Given the description of an element on the screen output the (x, y) to click on. 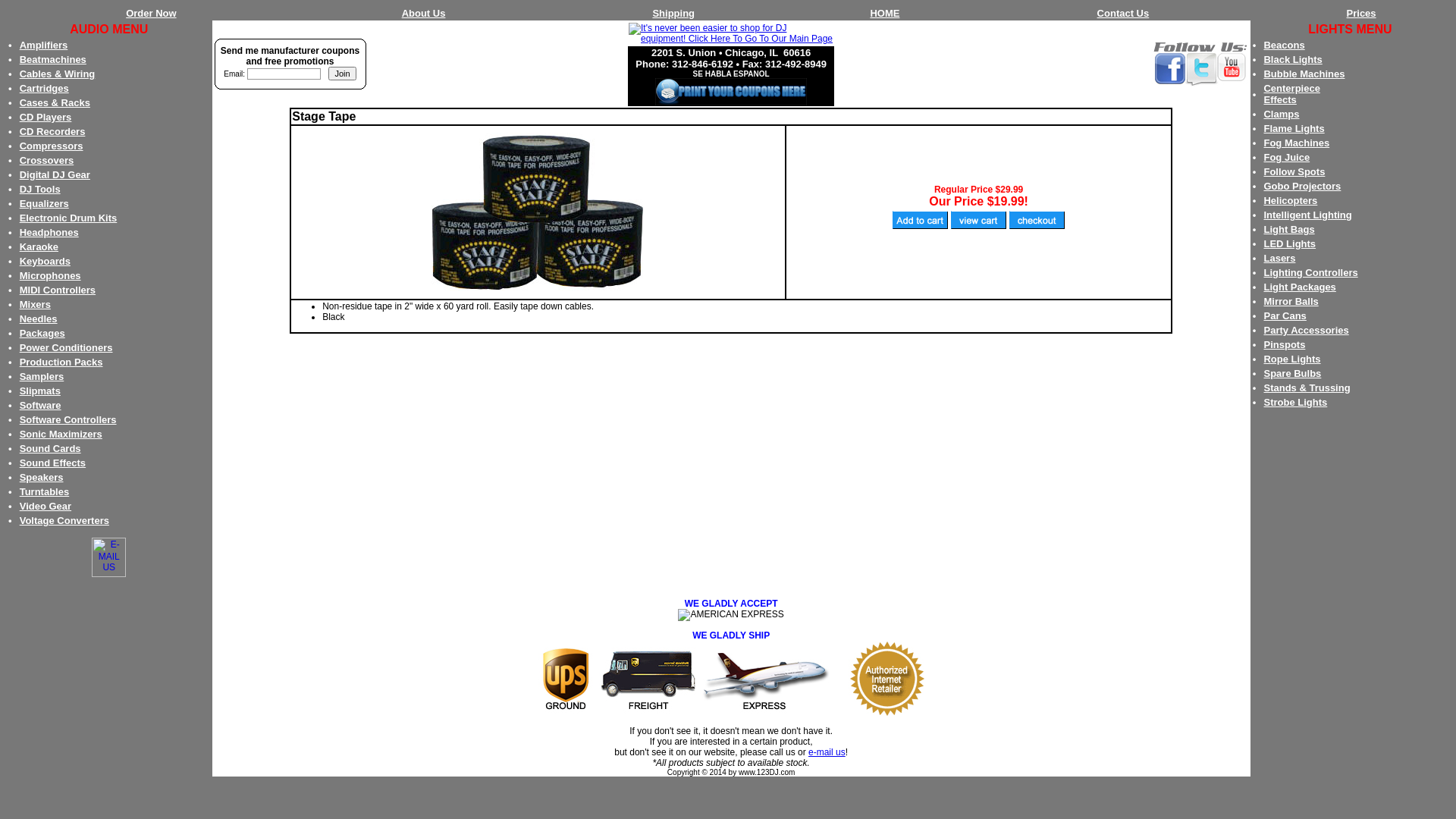
Cases & Racks Element type: text (54, 102)
Video Gear Element type: text (45, 505)
About Us Element type: text (423, 12)
Stands & Trussing Element type: text (1306, 387)
Software Controllers Element type: text (67, 419)
DJ Tools Element type: text (39, 188)
Amplifiers Element type: text (43, 44)
Software Element type: text (40, 405)
Spare Bulbs Element type: text (1292, 373)
Order Now Element type: text (150, 12)
Samplers Element type: text (41, 376)
Turntables Element type: text (44, 491)
Sound Effects Element type: text (52, 462)
Intelligent Lighting Element type: text (1307, 214)
Microphones Element type: text (50, 275)
Centerpiece
Effects Element type: text (1291, 93)
LED Lights Element type: text (1289, 243)
Packages Element type: text (42, 332)
MIDI Controllers Element type: text (57, 289)
Rope Lights Element type: text (1291, 358)
Strobe Lights Element type: text (1295, 401)
Gobo Projectors Element type: text (1301, 185)
Electronic Drum Kits Element type: text (68, 217)
Production Packs Element type: text (61, 361)
Equalizers Element type: text (44, 203)
Flame Lights Element type: text (1293, 128)
Beatmachines Element type: text (52, 59)
Beacons Element type: text (1283, 44)
Sound Cards Element type: text (50, 448)
Shipping Element type: text (673, 12)
Join Element type: text (341, 73)
Speakers Element type: text (41, 477)
Light Bags Element type: text (1288, 229)
Sonic Maximizers Element type: text (60, 433)
Par Cans Element type: text (1284, 315)
CD Players Element type: text (45, 116)
Pinspots Element type: text (1284, 344)
CD Recorders Element type: text (52, 131)
e-mail us Element type: text (826, 751)
Prices Element type: text (1361, 12)
Cartridges Element type: text (44, 88)
Helicopters Element type: text (1290, 200)
Power Conditioners Element type: text (65, 347)
Contact Us Element type: text (1123, 12)
Karaoke Element type: text (38, 246)
Voltage Converters Element type: text (64, 520)
Compressors Element type: text (51, 145)
HOME Element type: text (884, 12)
Digital DJ Gear Element type: text (54, 174)
Clamps Element type: text (1281, 113)
Slipmats Element type: text (39, 390)
Party Accessories Element type: text (1305, 329)
Mirror Balls Element type: text (1290, 301)
Black Lights Element type: text (1292, 59)
Lasers Element type: text (1279, 257)
Light Packages Element type: text (1299, 286)
Lighting Controllers Element type: text (1310, 272)
Headphones Element type: text (48, 232)
Fog Juice Element type: text (1286, 157)
Fog Machines Element type: text (1296, 142)
Crossovers Element type: text (46, 160)
Follow Spots Element type: text (1293, 171)
Bubble Machines Element type: text (1303, 73)
Mixers Element type: text (34, 304)
Cables & Wiring Element type: text (57, 73)
Needles Element type: text (38, 318)
Keyboards Element type: text (44, 260)
